Given the description of an element on the screen output the (x, y) to click on. 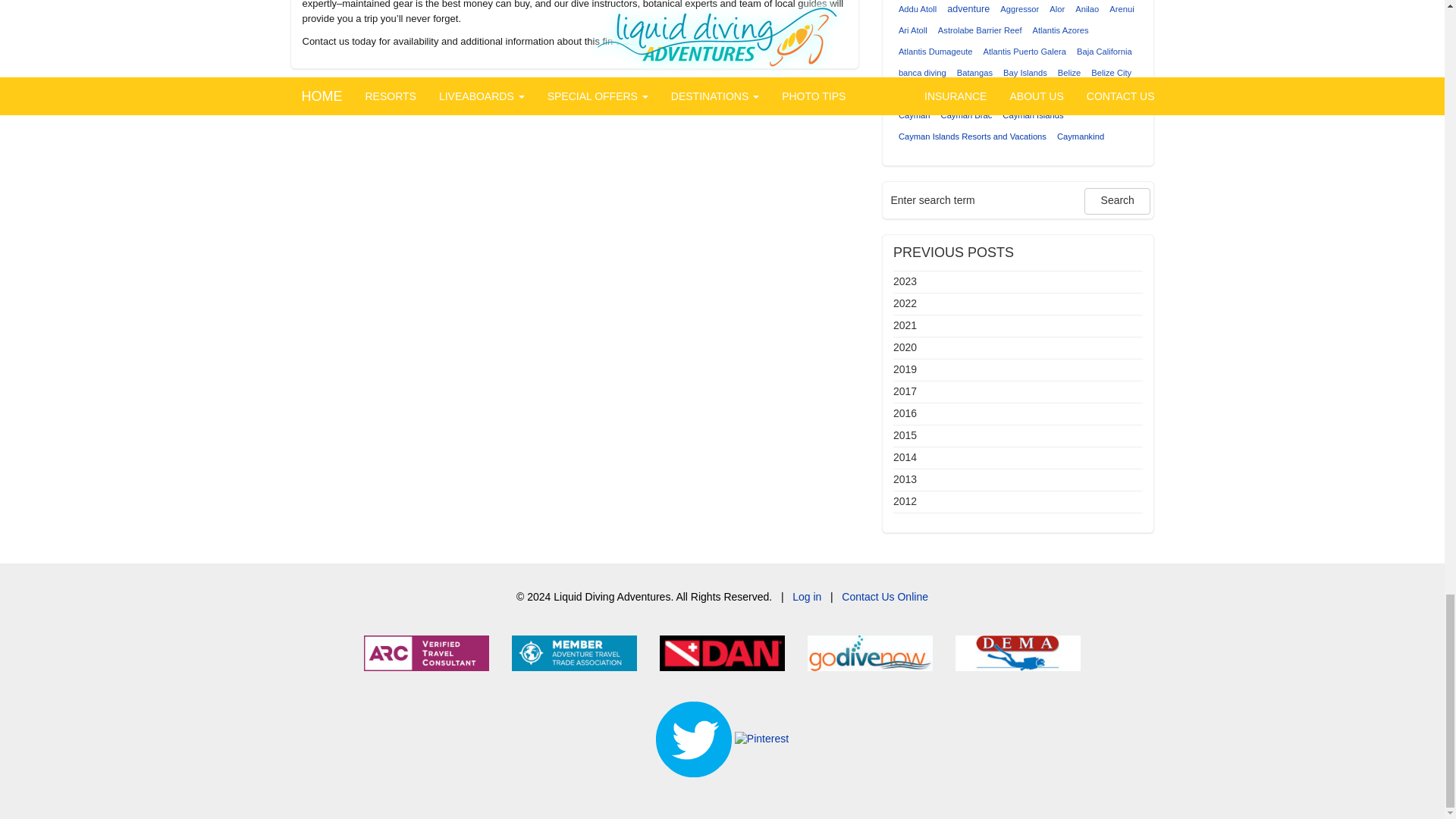
Enter search term (984, 200)
Search (1117, 201)
